Given the description of an element on the screen output the (x, y) to click on. 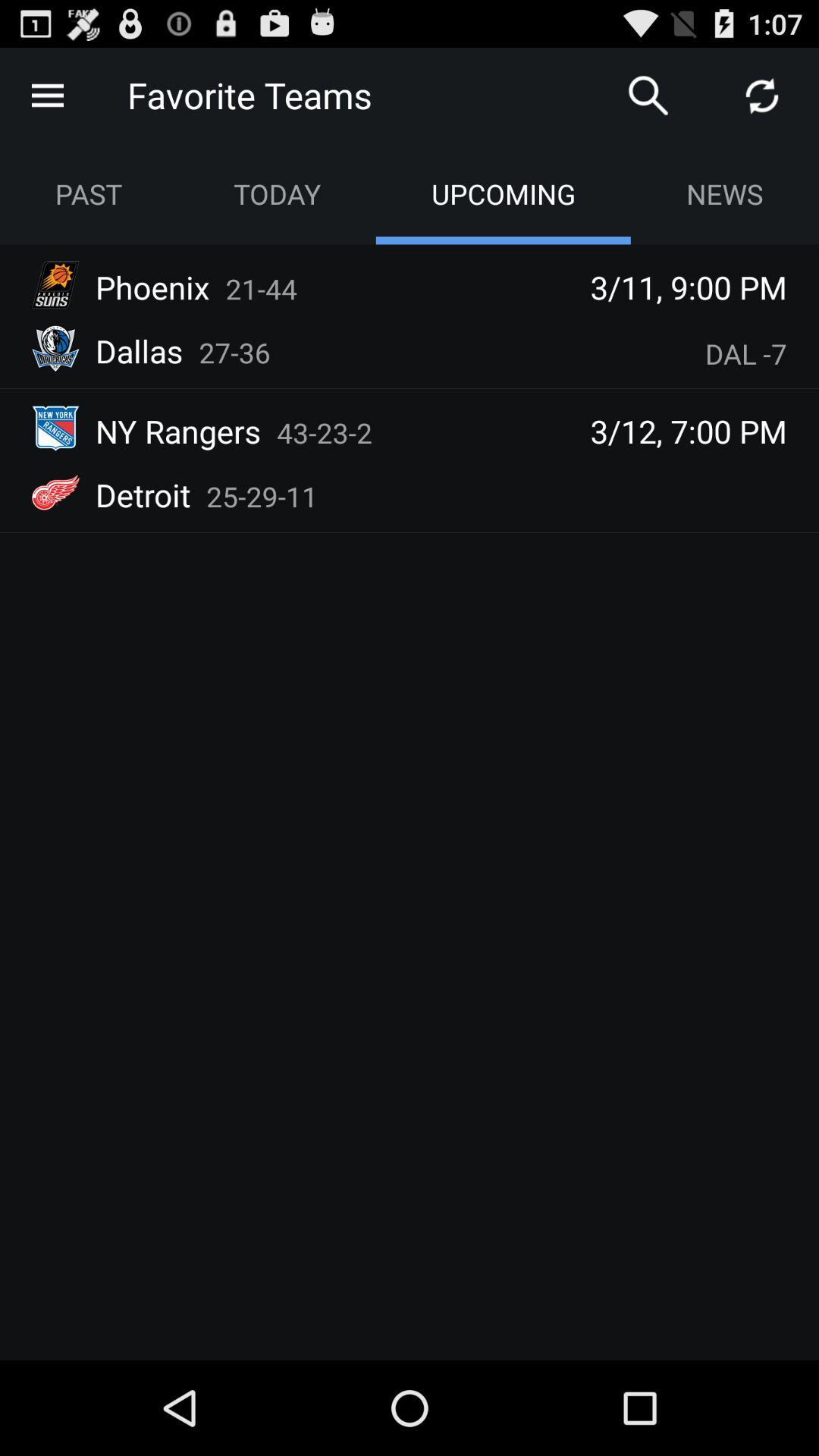
open the 21-44 app (261, 288)
